Given the description of an element on the screen output the (x, y) to click on. 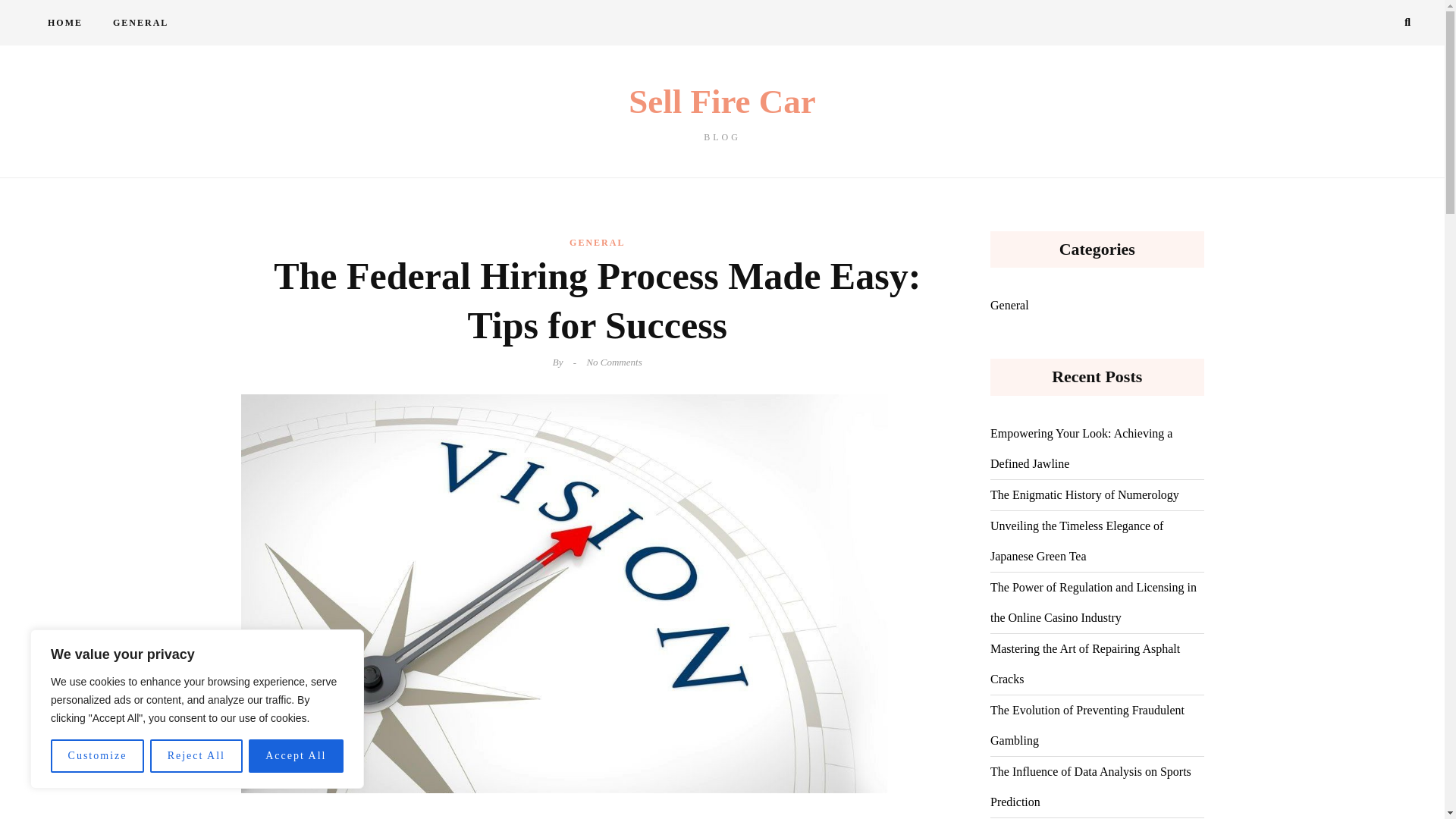
GENERAL (596, 241)
Accept All (295, 756)
General (1009, 305)
GENERAL (140, 22)
Customize (97, 756)
Reject All (721, 112)
HOME (196, 756)
